Given the description of an element on the screen output the (x, y) to click on. 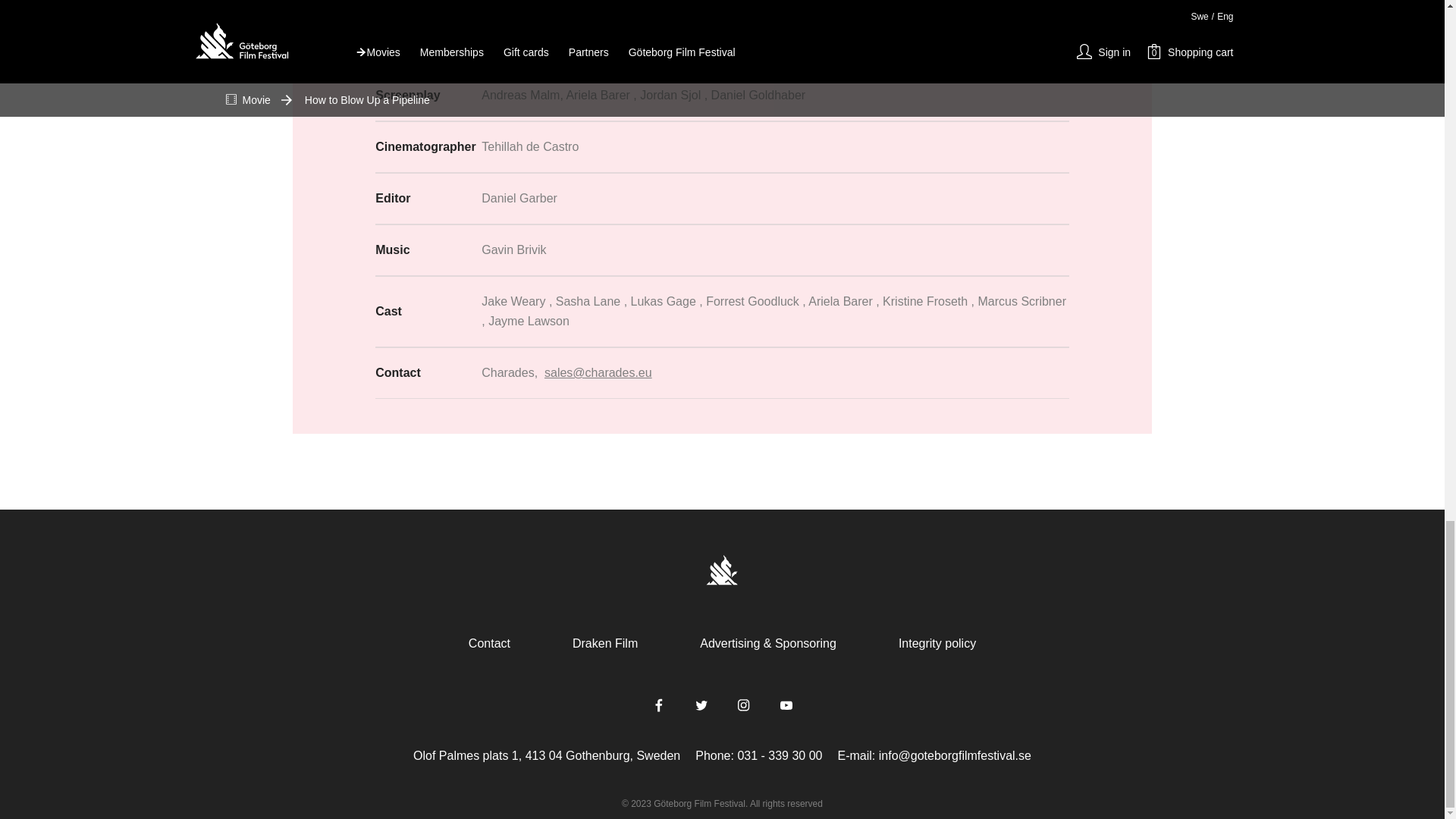
Draken Film (604, 643)
Phone: 031 - 339 30 00 (758, 755)
Integrity policy (937, 643)
Contact (489, 643)
